Given the description of an element on the screen output the (x, y) to click on. 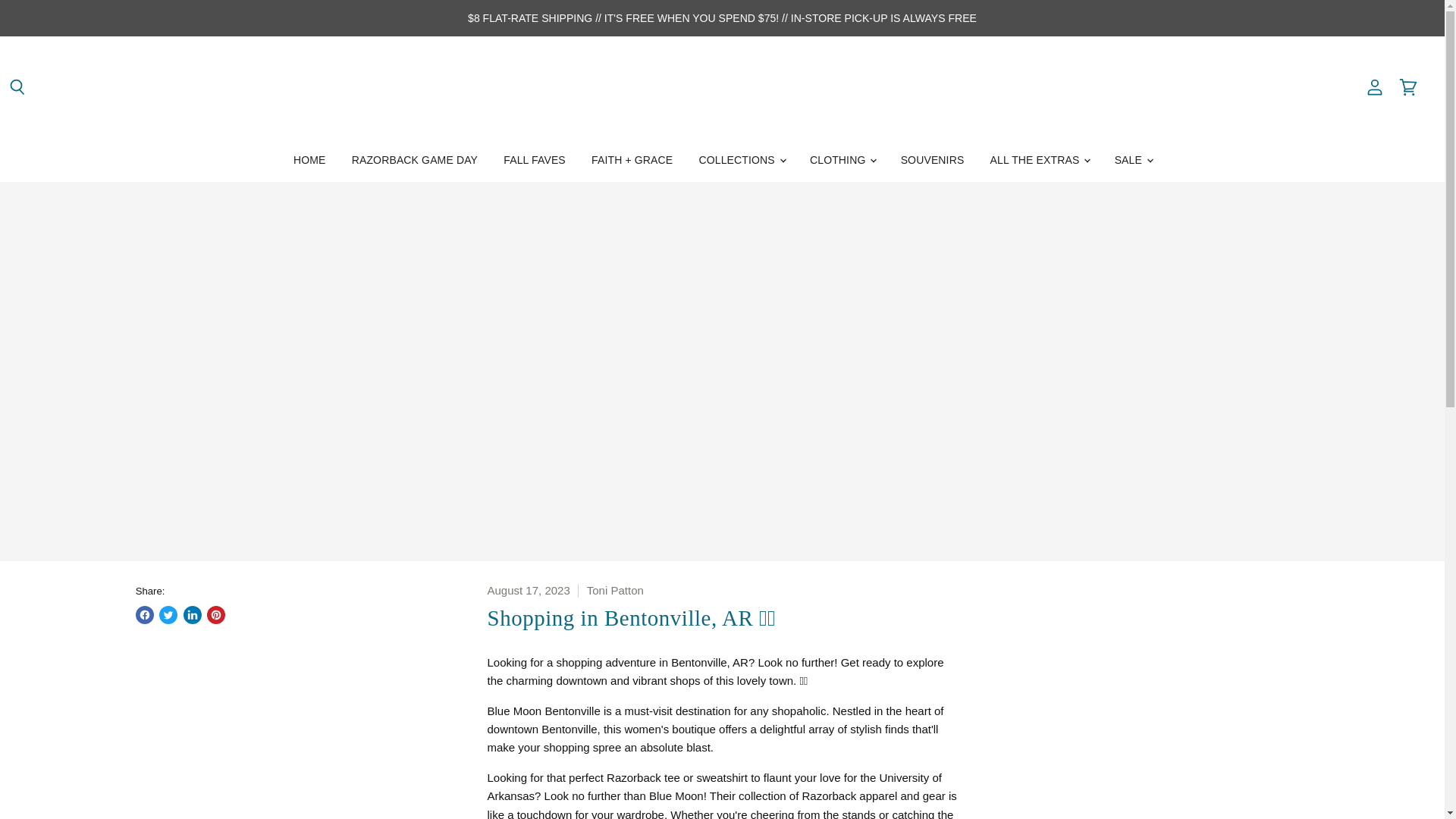
View account (1374, 87)
RAZORBACK GAME DAY (414, 160)
View cart (1408, 87)
ALL THE EXTRAS (1039, 160)
FALL FAVES (534, 160)
HOME (309, 160)
Search (17, 87)
COLLECTIONS (740, 160)
SOUVENIRS (932, 160)
CLOTHING (841, 160)
